Given the description of an element on the screen output the (x, y) to click on. 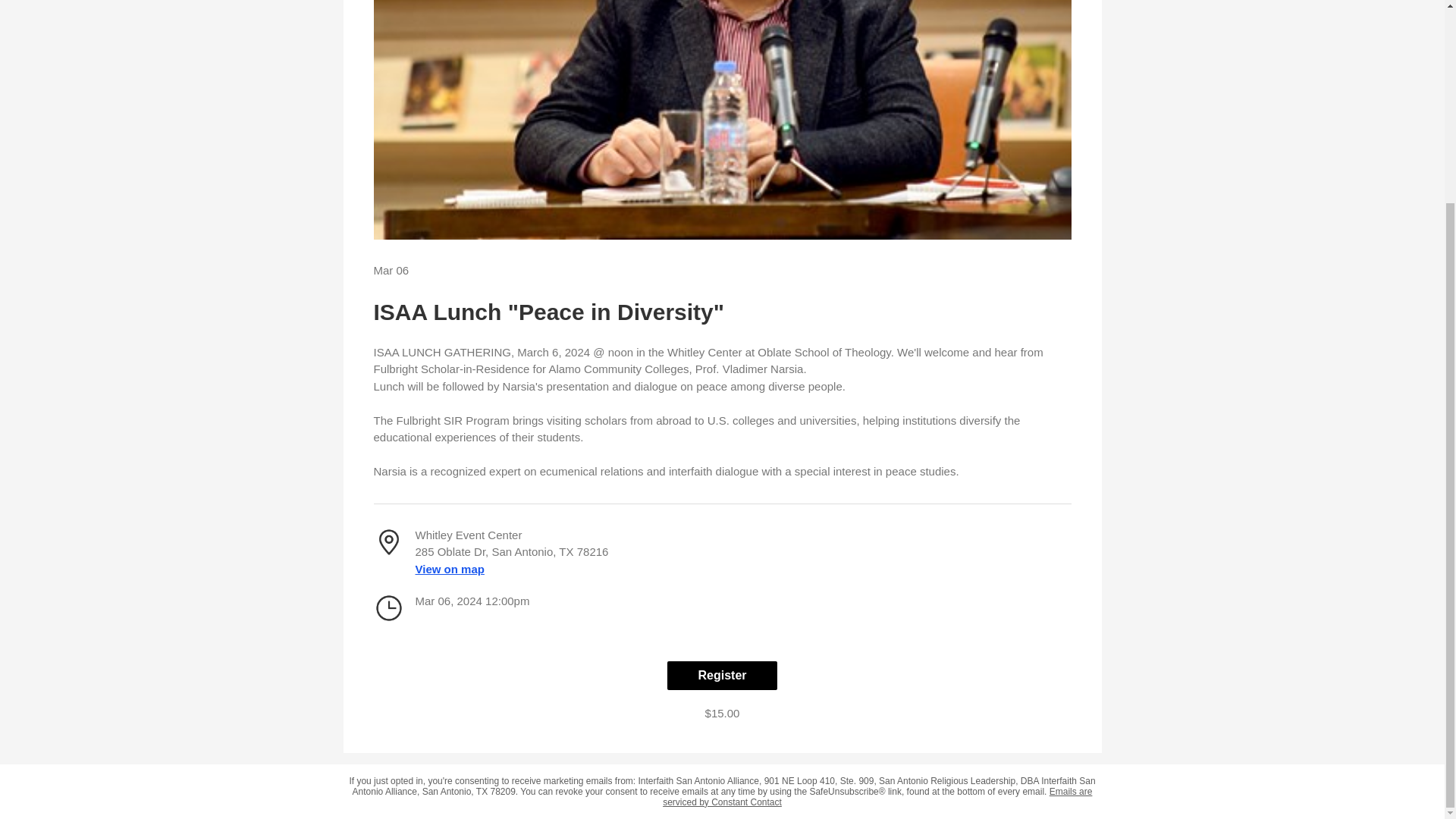
Emails are serviced by Constant Contact (877, 796)
View on map (449, 568)
Register (721, 675)
